Given the description of an element on the screen output the (x, y) to click on. 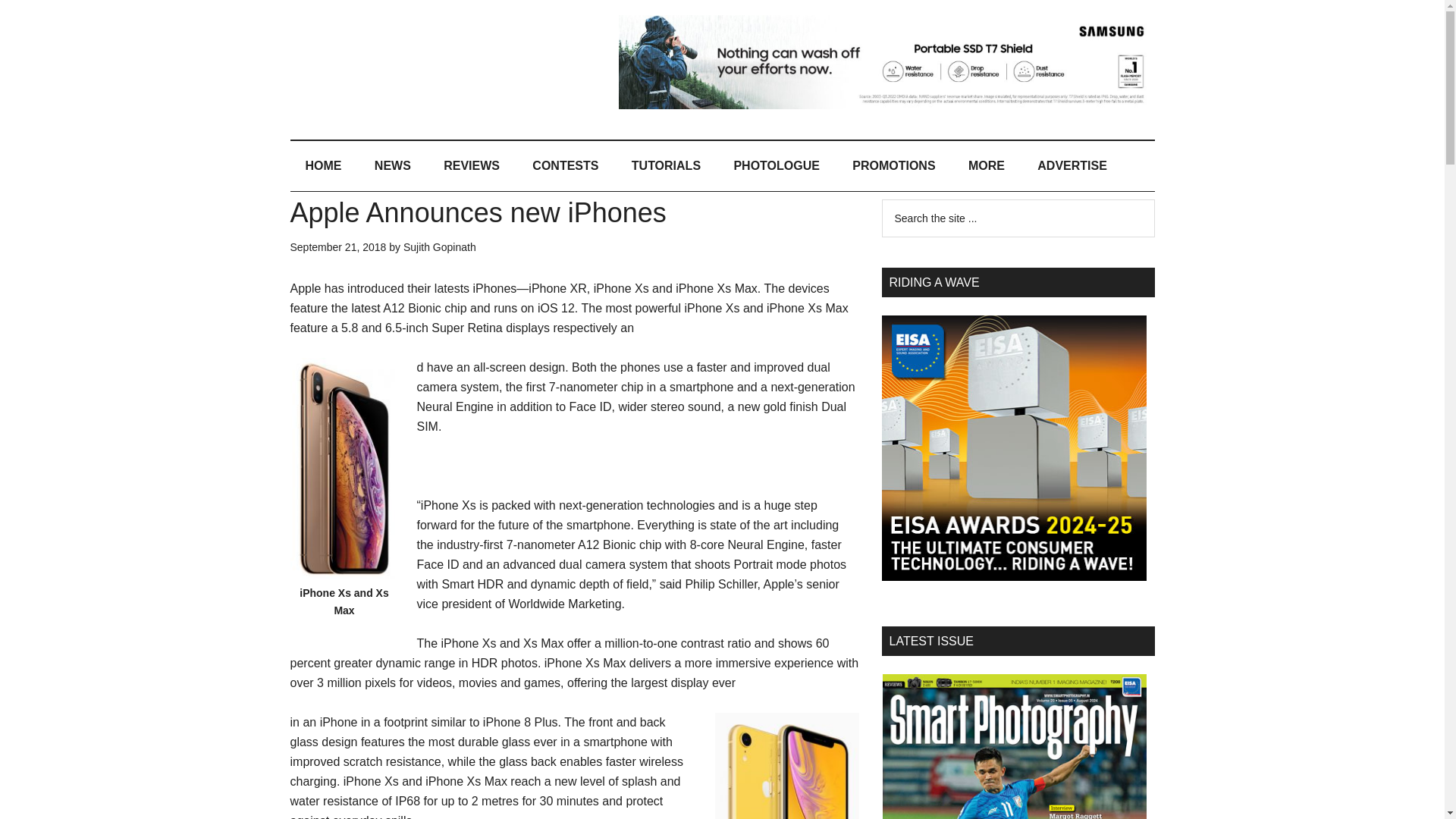
REVIEWS (471, 165)
NEWS (392, 165)
CONTESTS (564, 165)
PHOTOLOGUE (775, 165)
TUTORIALS (665, 165)
ADVERTISE (1072, 165)
PROMOTIONS (893, 165)
HOME (322, 165)
MORE (986, 165)
